Given the description of an element on the screen output the (x, y) to click on. 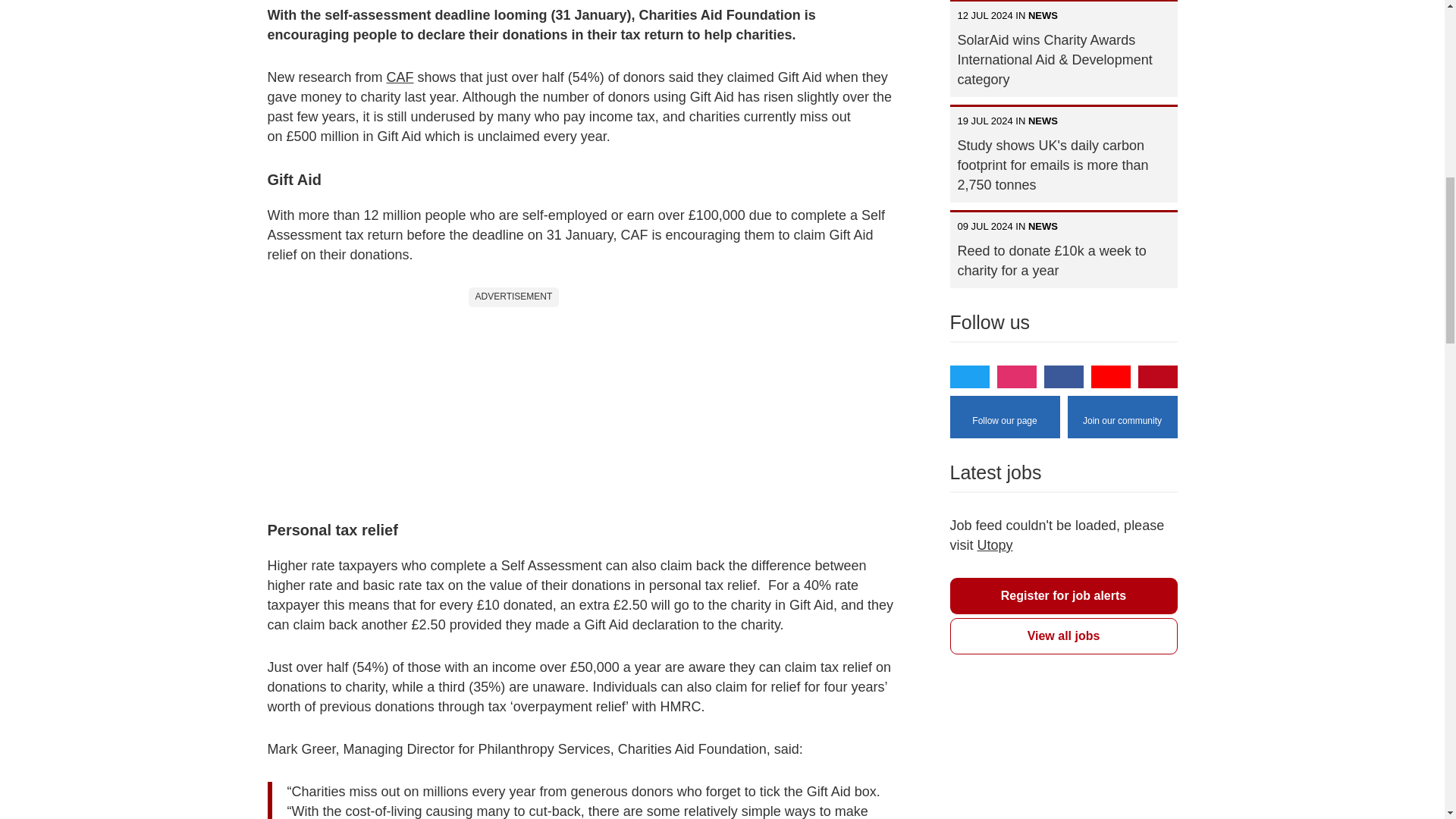
CAF (400, 77)
